Given the description of an element on the screen output the (x, y) to click on. 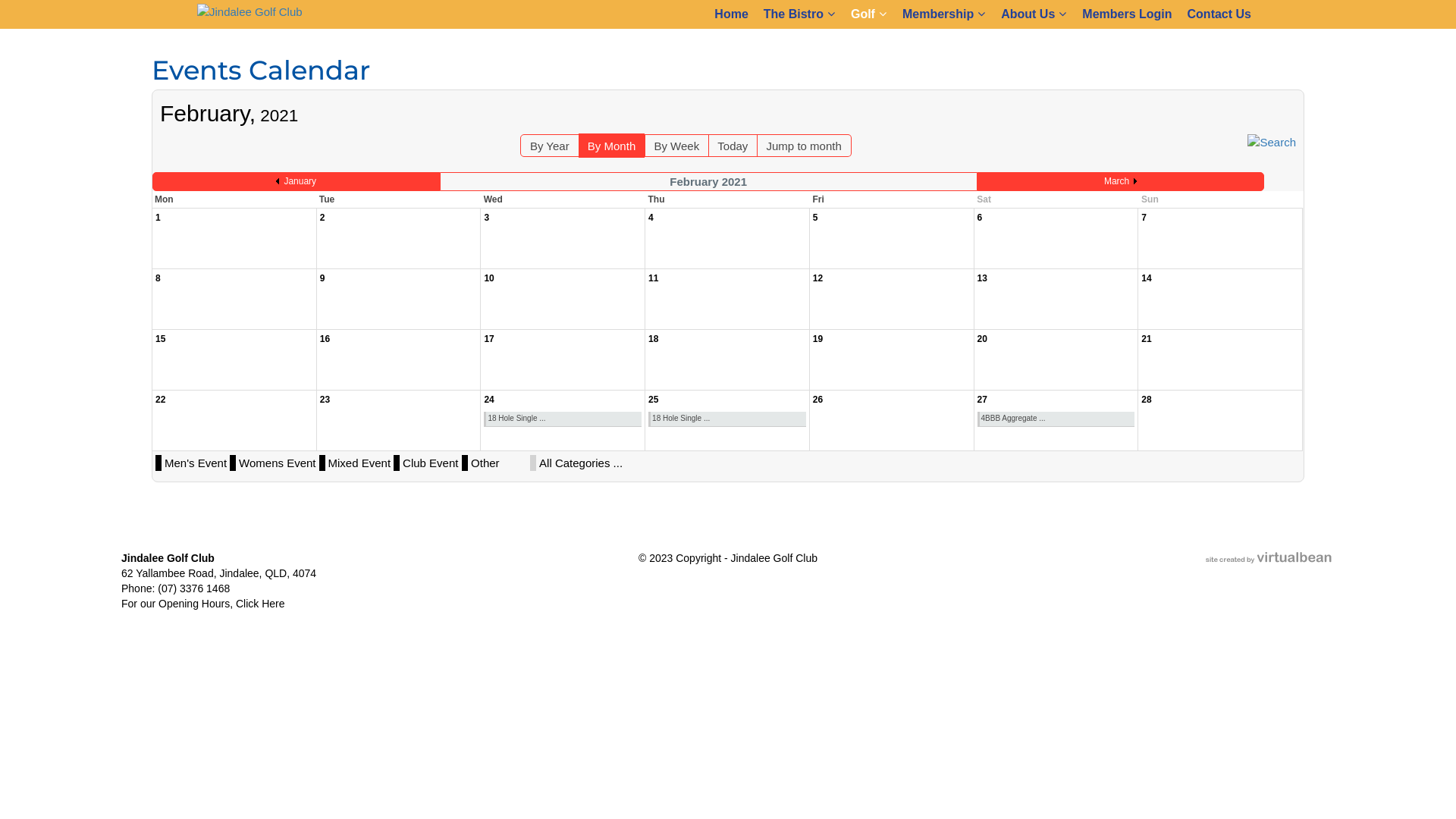
By Month Element type: text (611, 145)
Members Login Element type: text (1126, 14)
Today Element type: text (732, 145)
16 Element type: text (324, 338)
14 Element type: text (1146, 278)
11 Element type: text (653, 278)
18 Hole Single ... Element type: text (728, 418)
1 Element type: text (157, 217)
Contact Us Element type: text (1218, 14)
28 Element type: text (1146, 399)
10 Element type: text (488, 278)
Club Event Element type: text (430, 462)
5 Element type: text (815, 217)
17 Element type: text (488, 338)
25 Element type: text (653, 399)
2 Element type: text (322, 217)
6 Element type: text (979, 217)
18 Element type: text (653, 338)
March Element type: text (1120, 180)
9 Element type: text (322, 278)
Men's Event Element type: text (195, 462)
26 Element type: text (817, 399)
4 Element type: text (650, 217)
Home Element type: text (730, 14)
22 Element type: text (160, 399)
13 Element type: text (982, 278)
Other Element type: text (498, 462)
19 Element type: text (817, 338)
4BBB Aggregate ... Element type: text (1057, 418)
All Categories ... Element type: text (580, 462)
For our Opening Hours, Click Here Element type: text (203, 603)
7 Element type: text (1143, 217)
27 Element type: text (982, 399)
12 Element type: text (817, 278)
Mixed Event Element type: text (359, 462)
3 Element type: text (486, 217)
By Week Element type: text (676, 145)
20 Element type: text (982, 338)
18 Hole Single ... Element type: text (563, 418)
January Element type: text (296, 180)
Search Element type: hover (1271, 140)
Womens Event Element type: text (276, 462)
By Year Element type: text (549, 145)
Jump to month Element type: text (803, 145)
15 Element type: text (160, 338)
8 Element type: text (157, 278)
23 Element type: text (324, 399)
21 Element type: text (1146, 338)
24 Element type: text (488, 399)
